Given the description of an element on the screen output the (x, y) to click on. 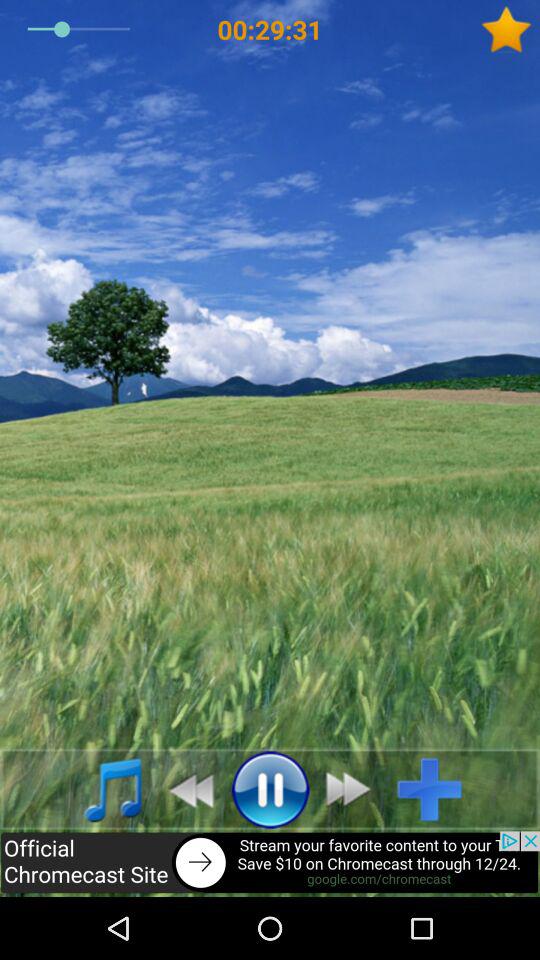
go to rating (510, 29)
